Given the description of an element on the screen output the (x, y) to click on. 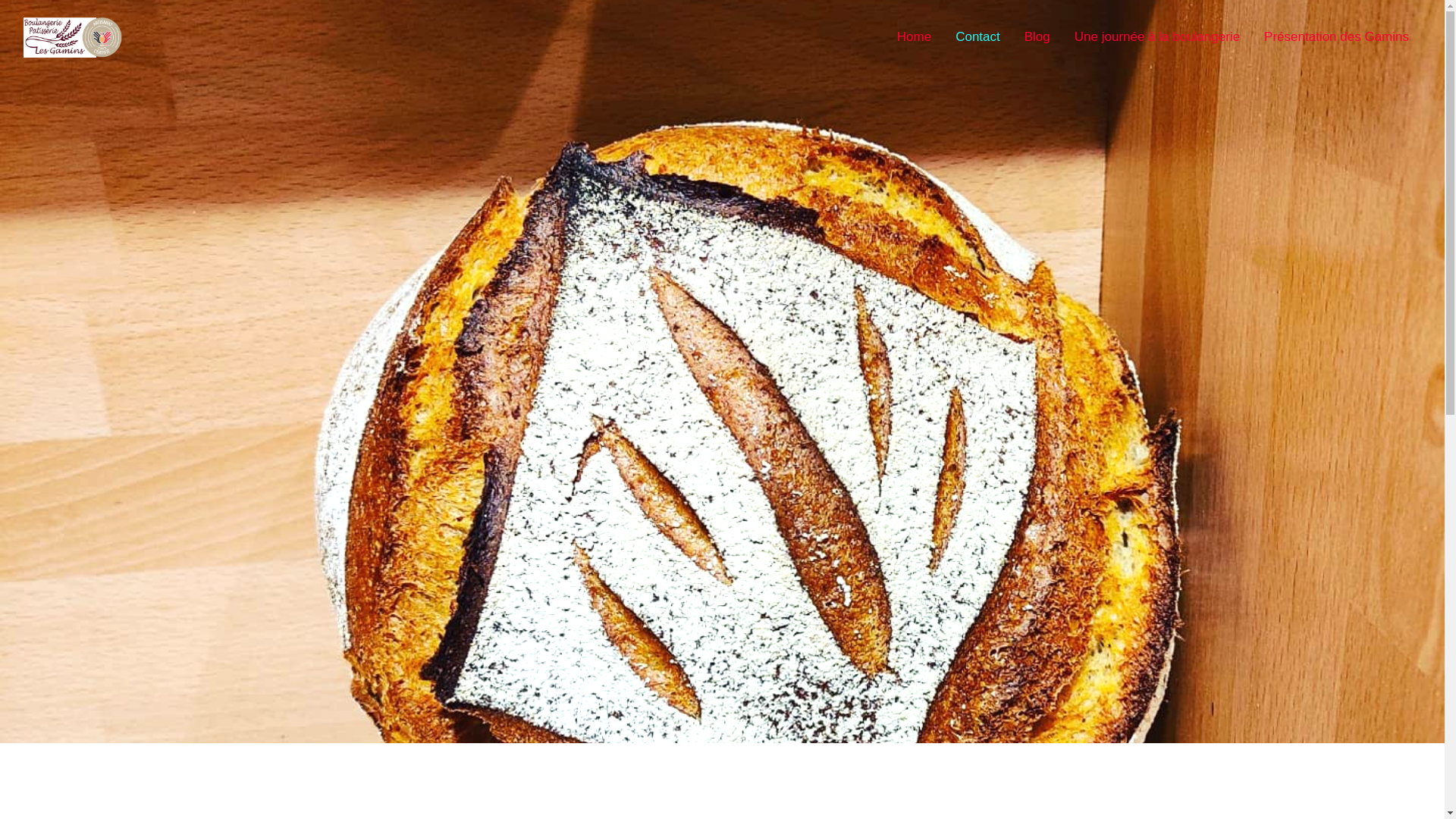
Blog Element type: text (1037, 37)
Home Element type: text (913, 37)
Contact Element type: text (977, 37)
